Given the description of an element on the screen output the (x, y) to click on. 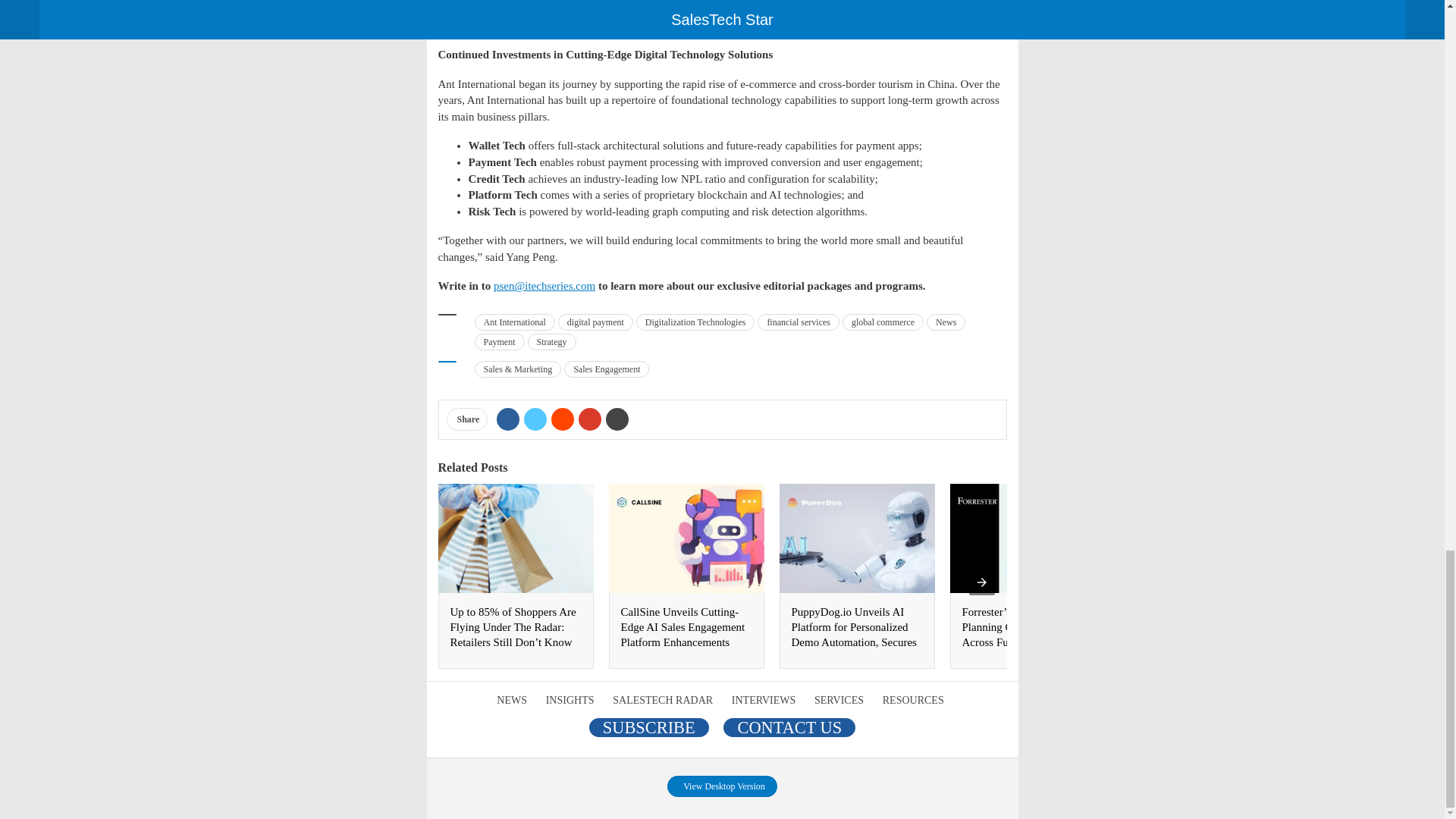
INSIGHTS (572, 699)
Sales Engagement (606, 369)
Strategy (551, 341)
financial services (798, 321)
global commerce (883, 321)
Payment (499, 341)
Digitalization Technologies (695, 321)
Ant International (514, 321)
News (945, 321)
Next item in carousel (981, 582)
NEWS (513, 699)
